Given the description of an element on the screen output the (x, y) to click on. 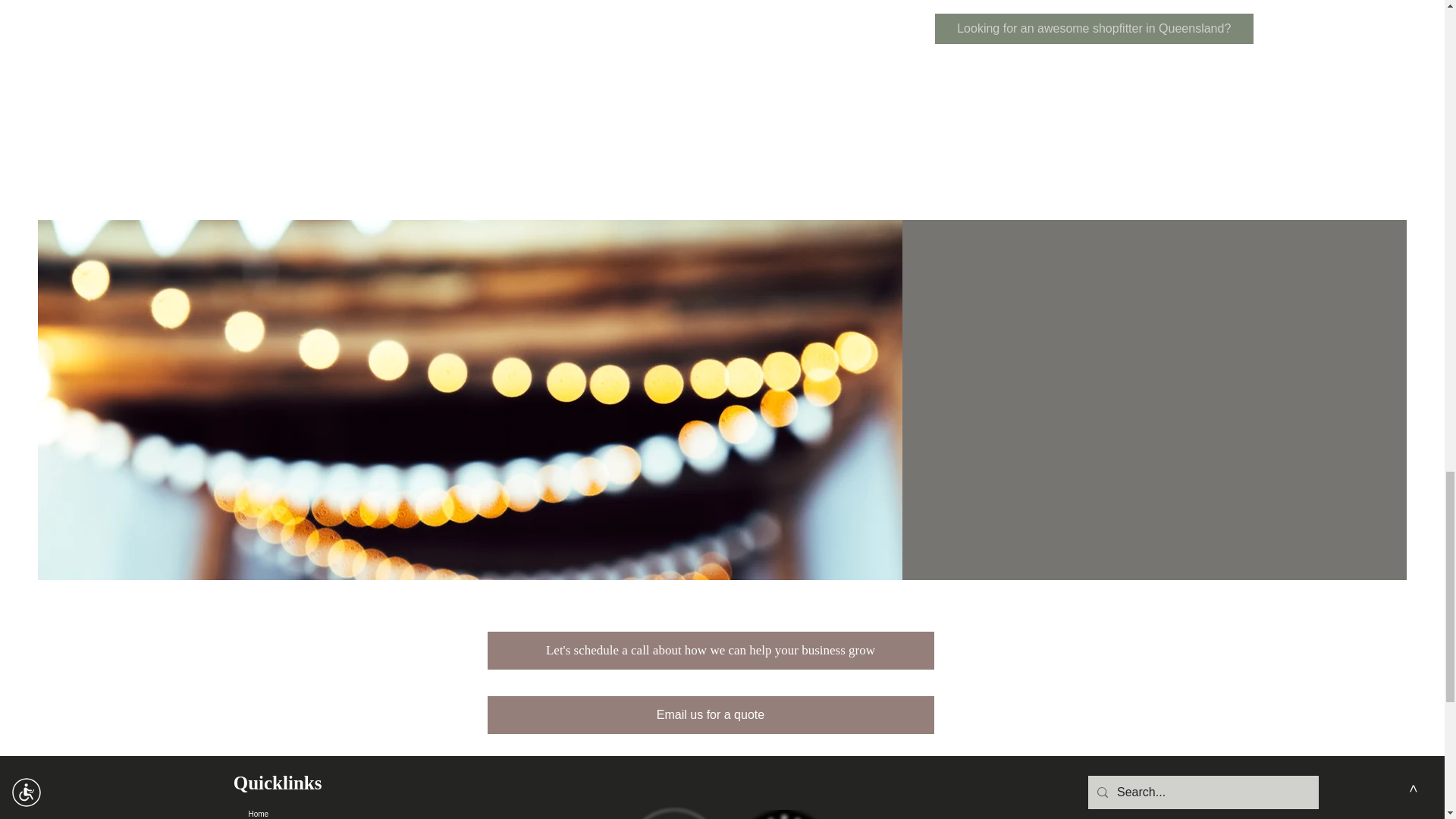
Email us for a quote (709, 714)
Wix Legend (783, 814)
Looking for an awesome shopfitter in Queensland? (1093, 28)
Home (326, 811)
